Given the description of an element on the screen output the (x, y) to click on. 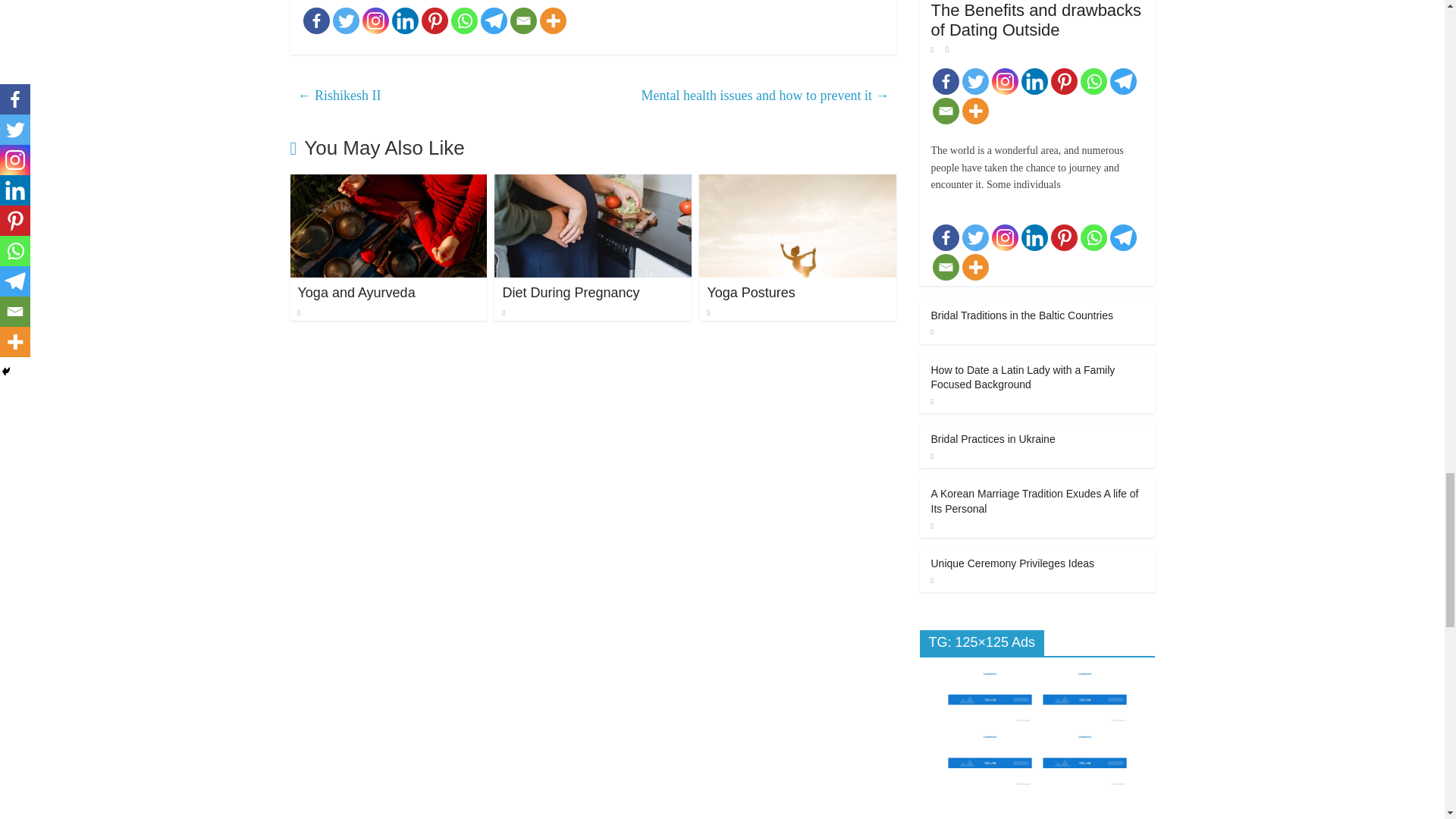
Facebook (316, 20)
Twitter (344, 20)
